Given the description of an element on the screen output the (x, y) to click on. 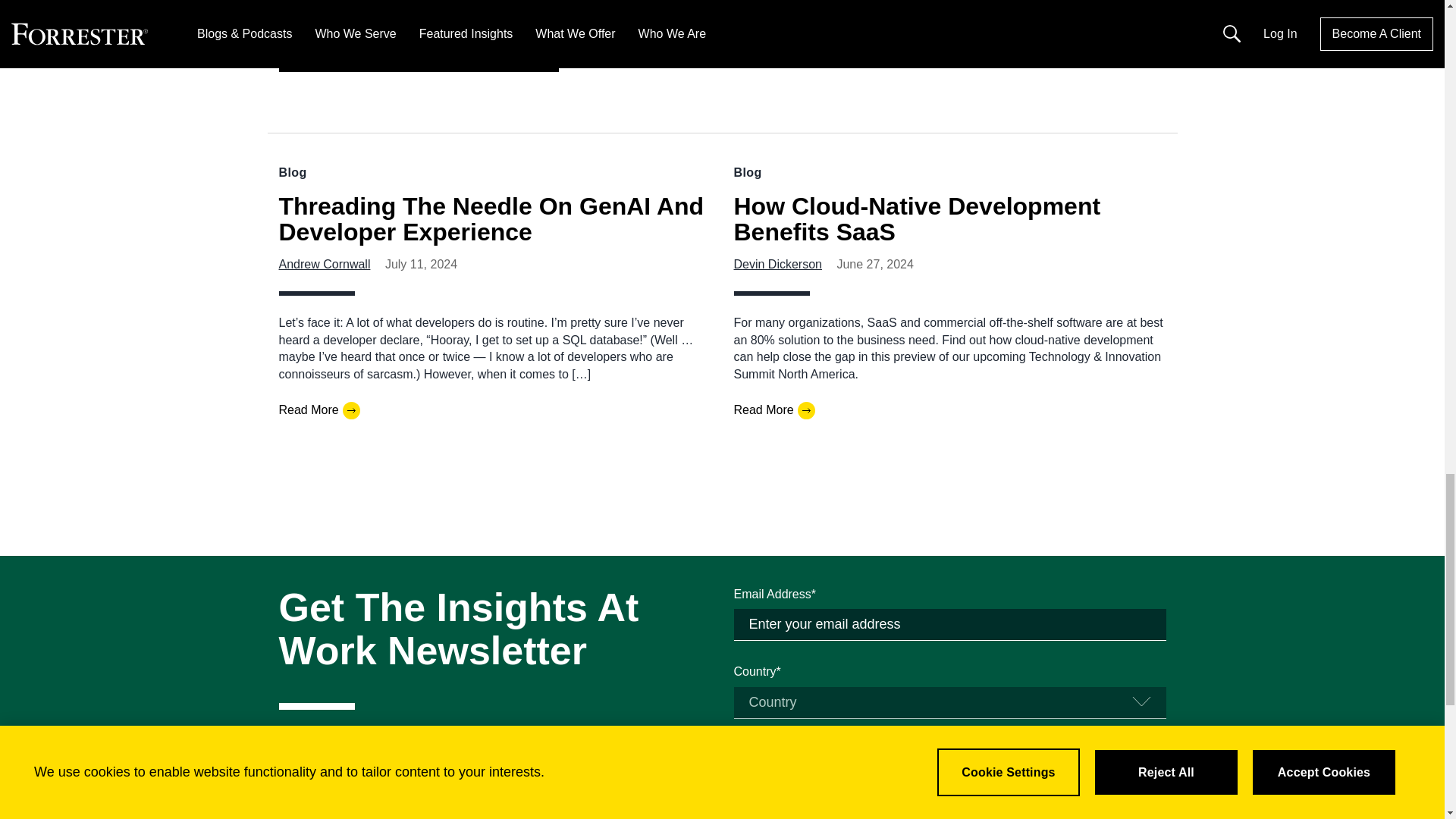
Subscribe Now (949, 811)
Andrew Cornwall (325, 264)
Devin Dickerson (777, 264)
